Given the description of an element on the screen output the (x, y) to click on. 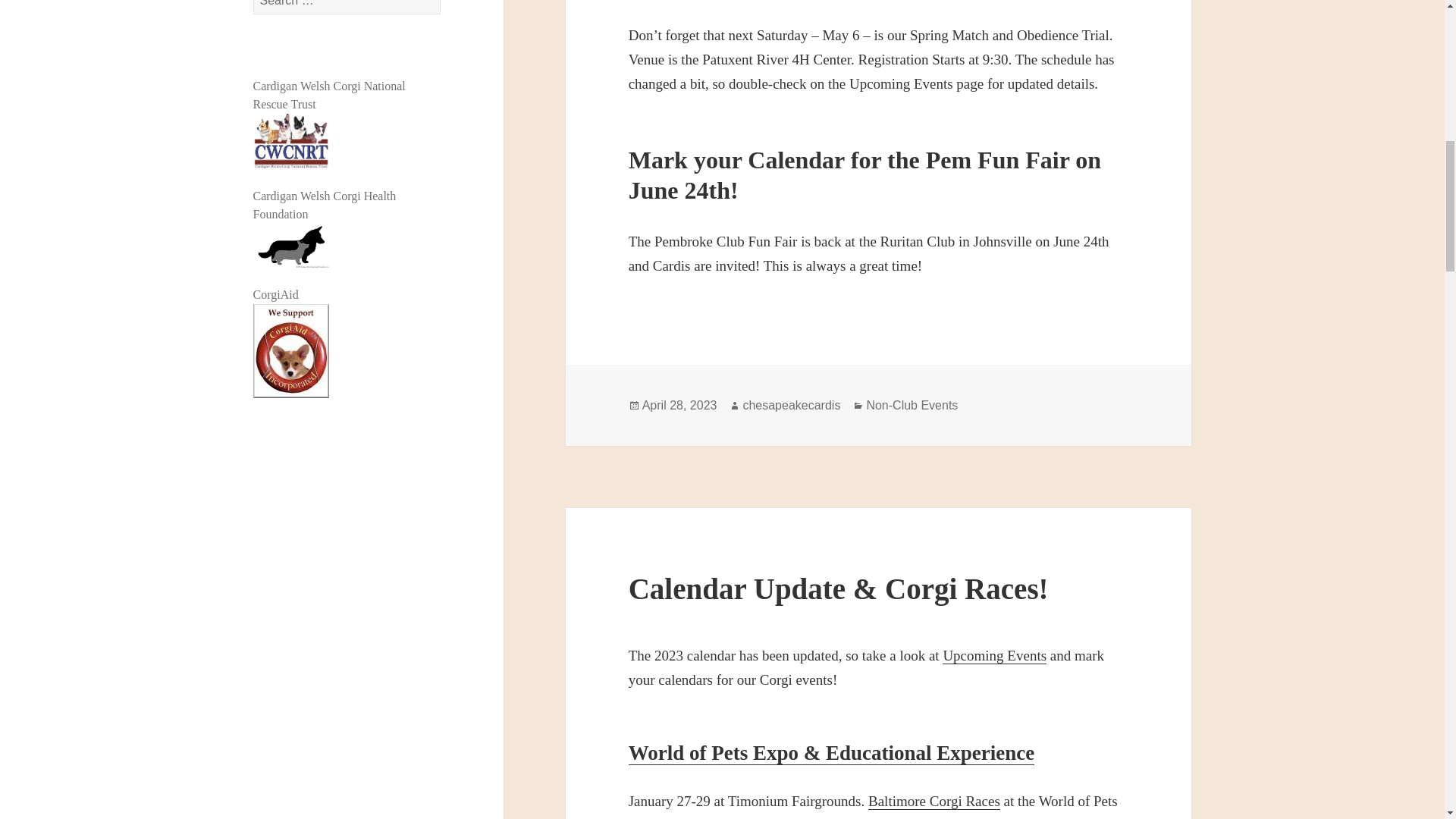
chesapeakecardis (791, 405)
Upcoming Events (994, 655)
Baltimore Corgi Races (933, 801)
April 28, 2023 (679, 405)
Non-Club Events (912, 405)
